Given the description of an element on the screen output the (x, y) to click on. 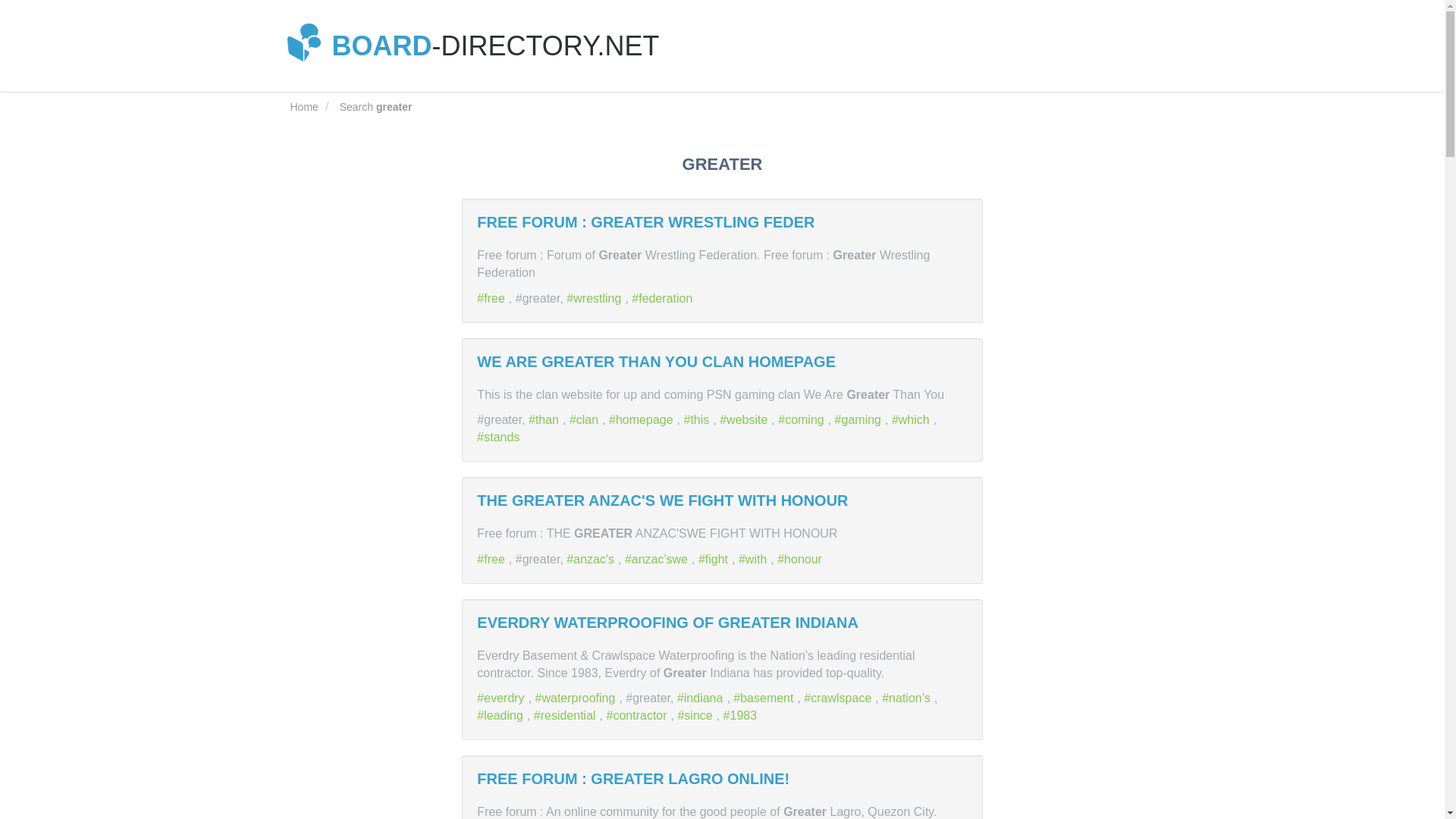
homepage (642, 419)
waterproofing (577, 697)
free (492, 558)
clan (585, 419)
WE ARE GREATER THAN YOU CLAN HOMEPAGE (656, 361)
EVERDRY WATERPROOFING OF GREATER INDIANA (668, 622)
wrestling (595, 297)
1983 (742, 715)
leading (502, 715)
fight (715, 558)
stands (499, 436)
free (492, 558)
anzac'swe (657, 558)
Home (303, 106)
crawlspace (839, 697)
